Given the description of an element on the screen output the (x, y) to click on. 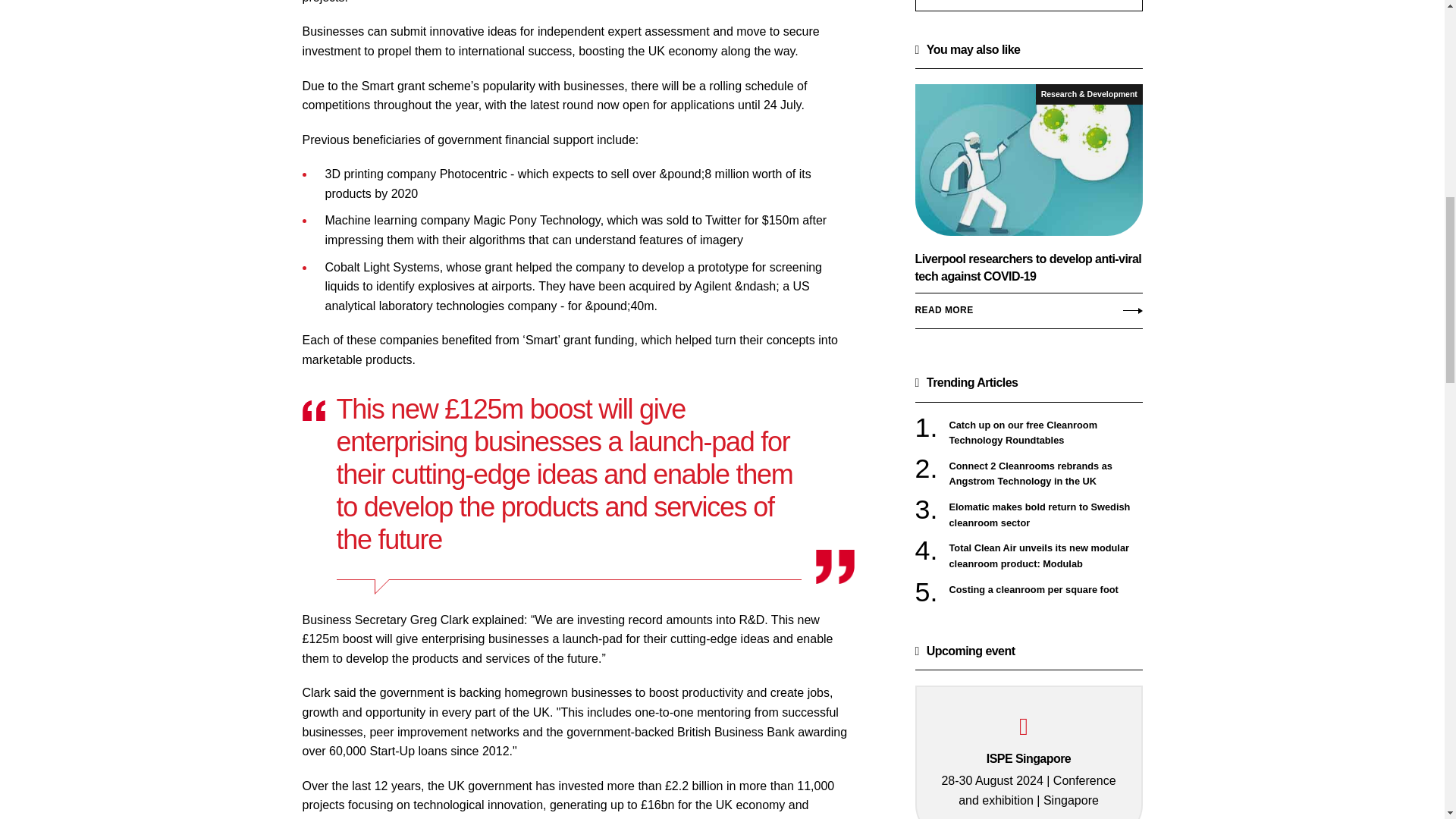
Elomatic makes bold return to Swedish cleanroom sector (1045, 514)
Catch up on our free Cleanroom Technology Roundtables (1045, 432)
